Given the description of an element on the screen output the (x, y) to click on. 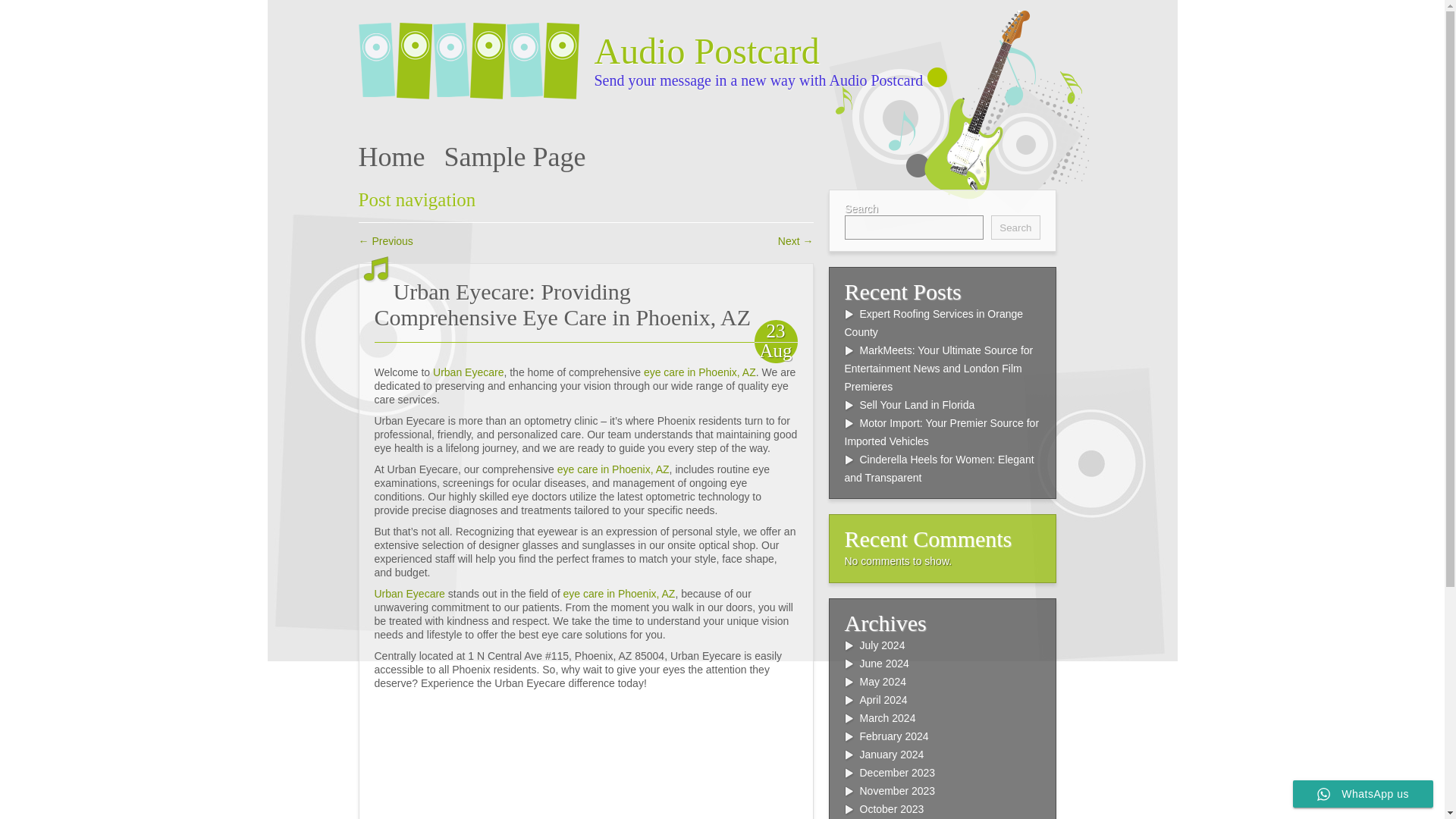
October 2023 (892, 808)
July 2024 (882, 645)
Urban Eyecare (467, 372)
Motor Import: Your Premier Source for Imported Vehicles (941, 431)
May 2024 (882, 681)
Sell Your Land in Florida (917, 404)
January 2024 (892, 754)
eye care in Phoenix, AZ (613, 469)
April 2024 (883, 699)
Expert Roofing Services in Orange County (933, 322)
Sample Page (514, 156)
March 2024 (887, 717)
Urban Eyecare (409, 593)
